Given the description of an element on the screen output the (x, y) to click on. 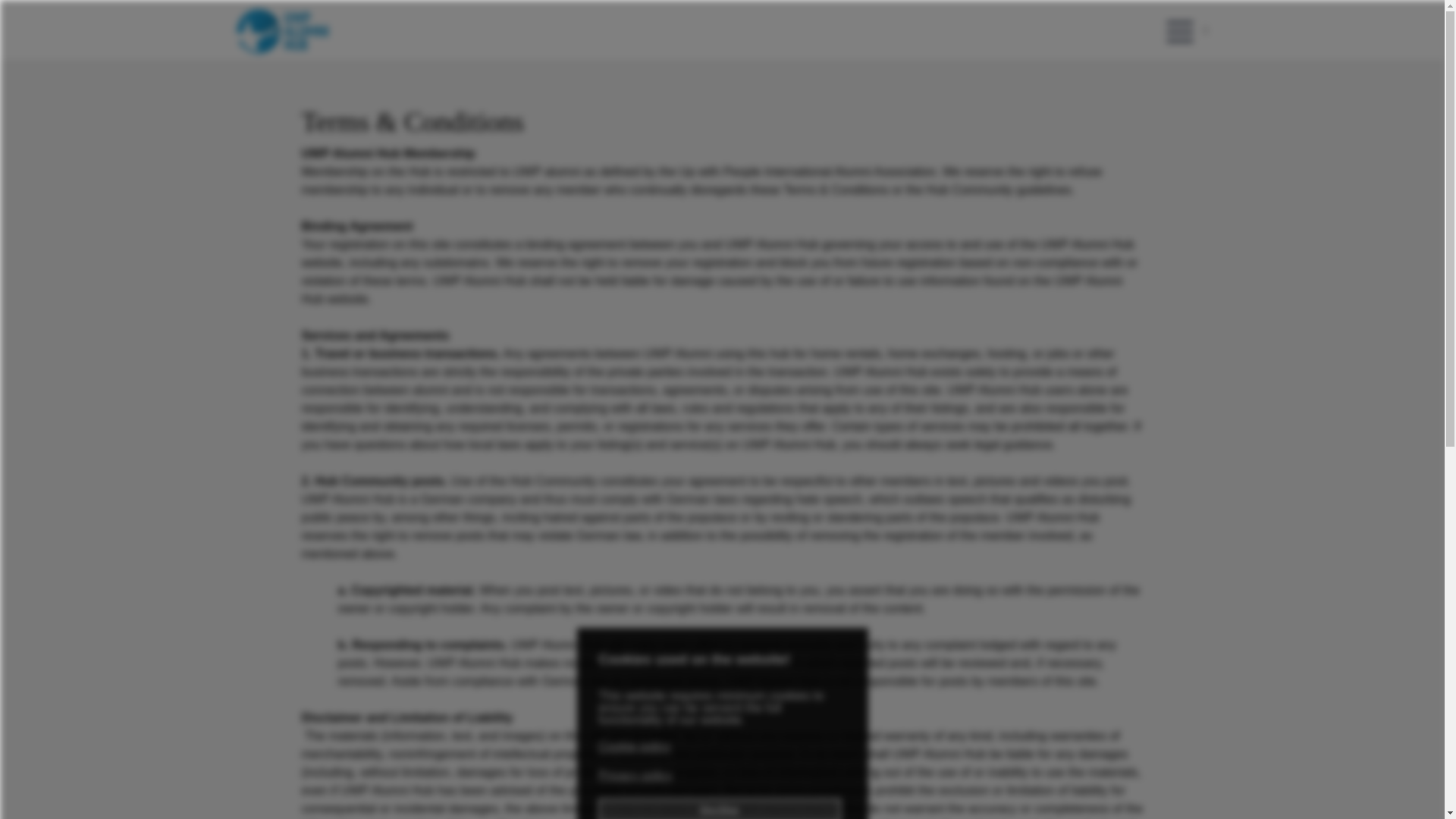
Cookie policy (635, 746)
Decline (719, 808)
Privacy policy (636, 775)
